Given the description of an element on the screen output the (x, y) to click on. 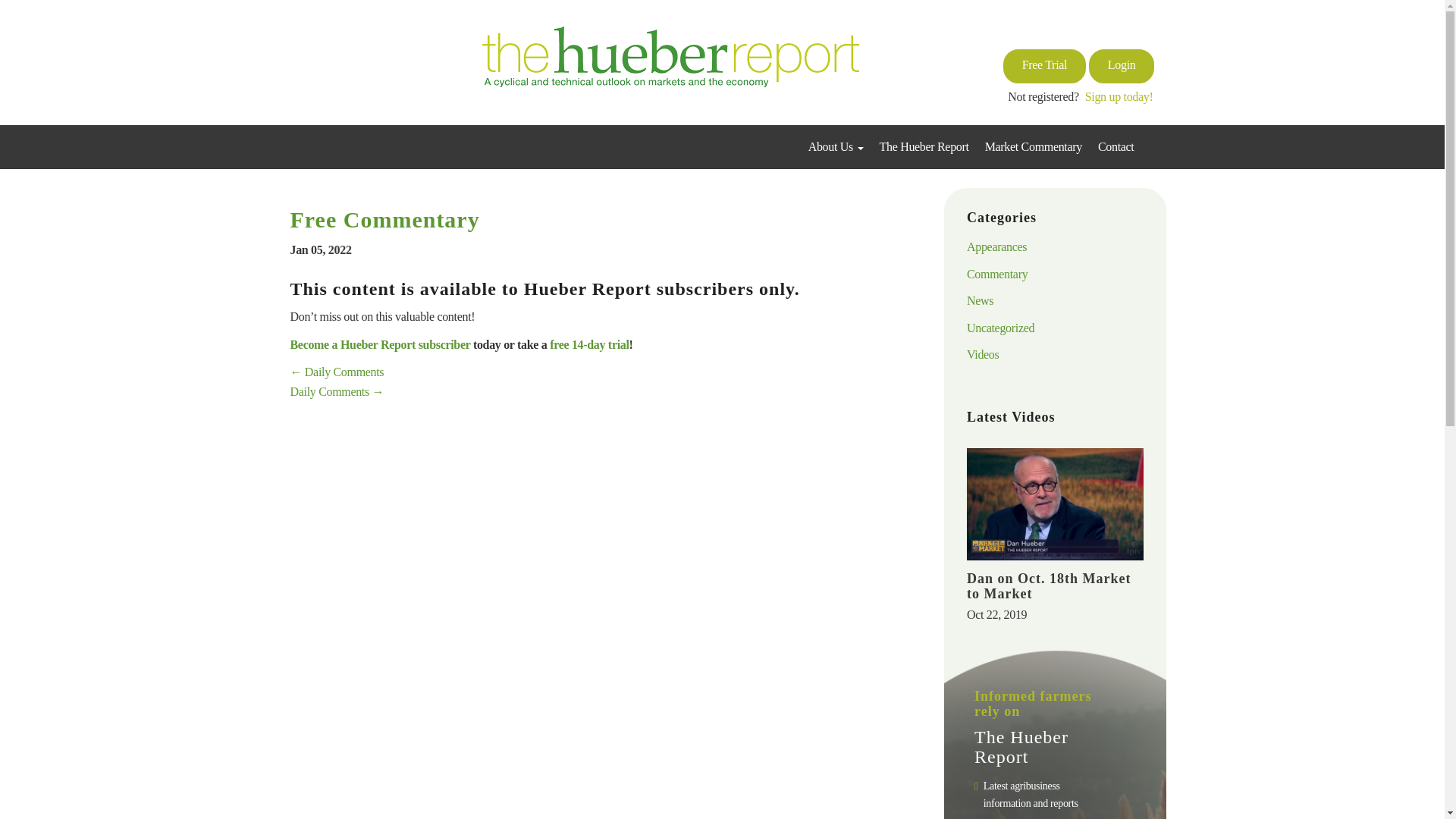
Commentary (996, 273)
News (979, 300)
free 14-day trial (589, 344)
Become a Hueber Report subscriber (379, 344)
Videos (982, 354)
Appearances (996, 246)
Contact (1116, 146)
Market Commentary (1034, 146)
Not registered? (1045, 93)
Contact (1116, 146)
About Us (837, 146)
About Us (837, 146)
Free Trial (1044, 66)
The Hueber Report (925, 146)
Uncategorized (999, 327)
